Given the description of an element on the screen output the (x, y) to click on. 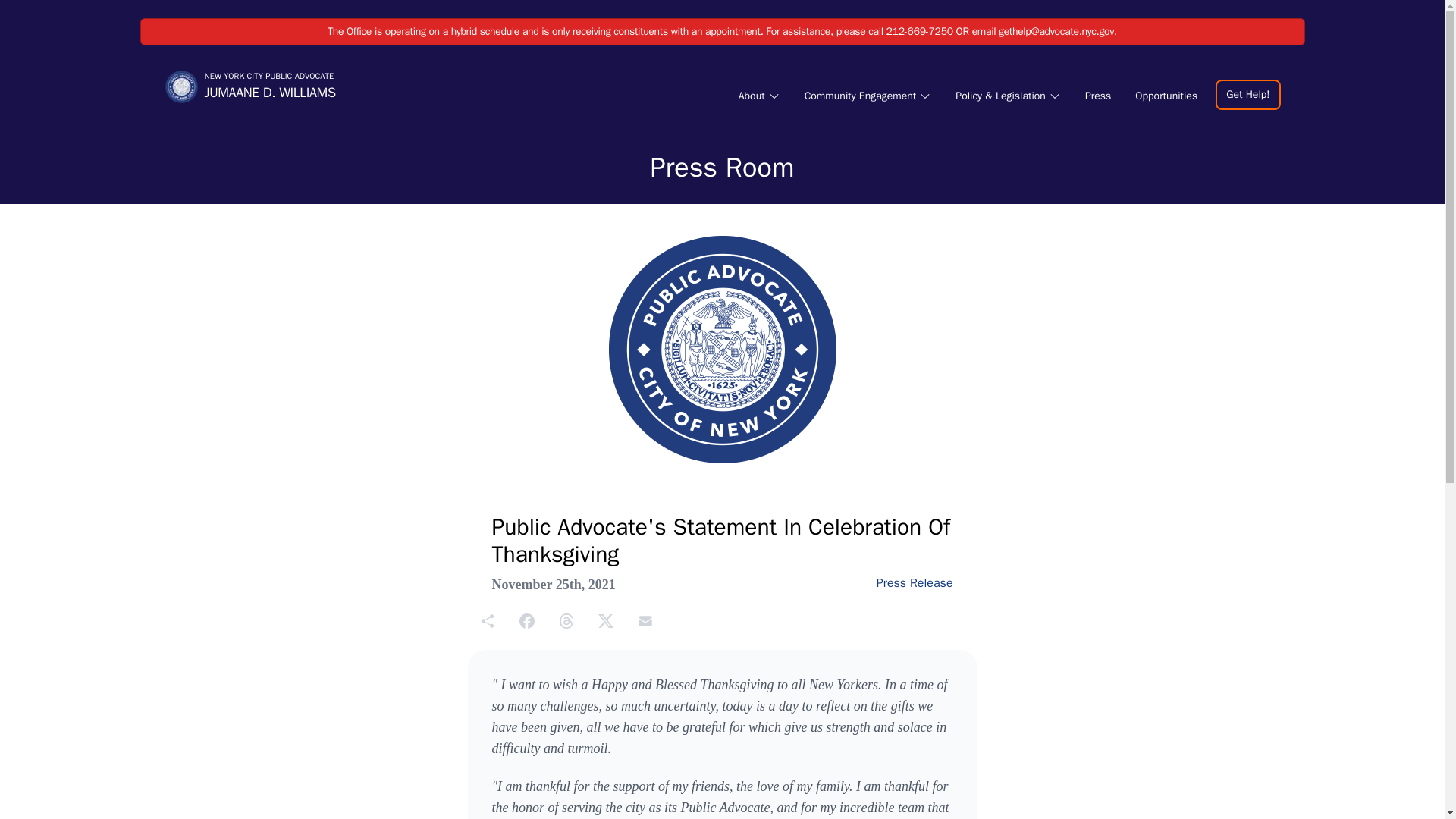
Community Engagement (867, 95)
Share via e-mail (644, 620)
Press Room (722, 167)
About (759, 95)
Press (1097, 95)
Opportunities (1166, 95)
Get Help! (1247, 93)
Share to Threads (565, 620)
Share to Facebook (248, 86)
